Given the description of an element on the screen output the (x, y) to click on. 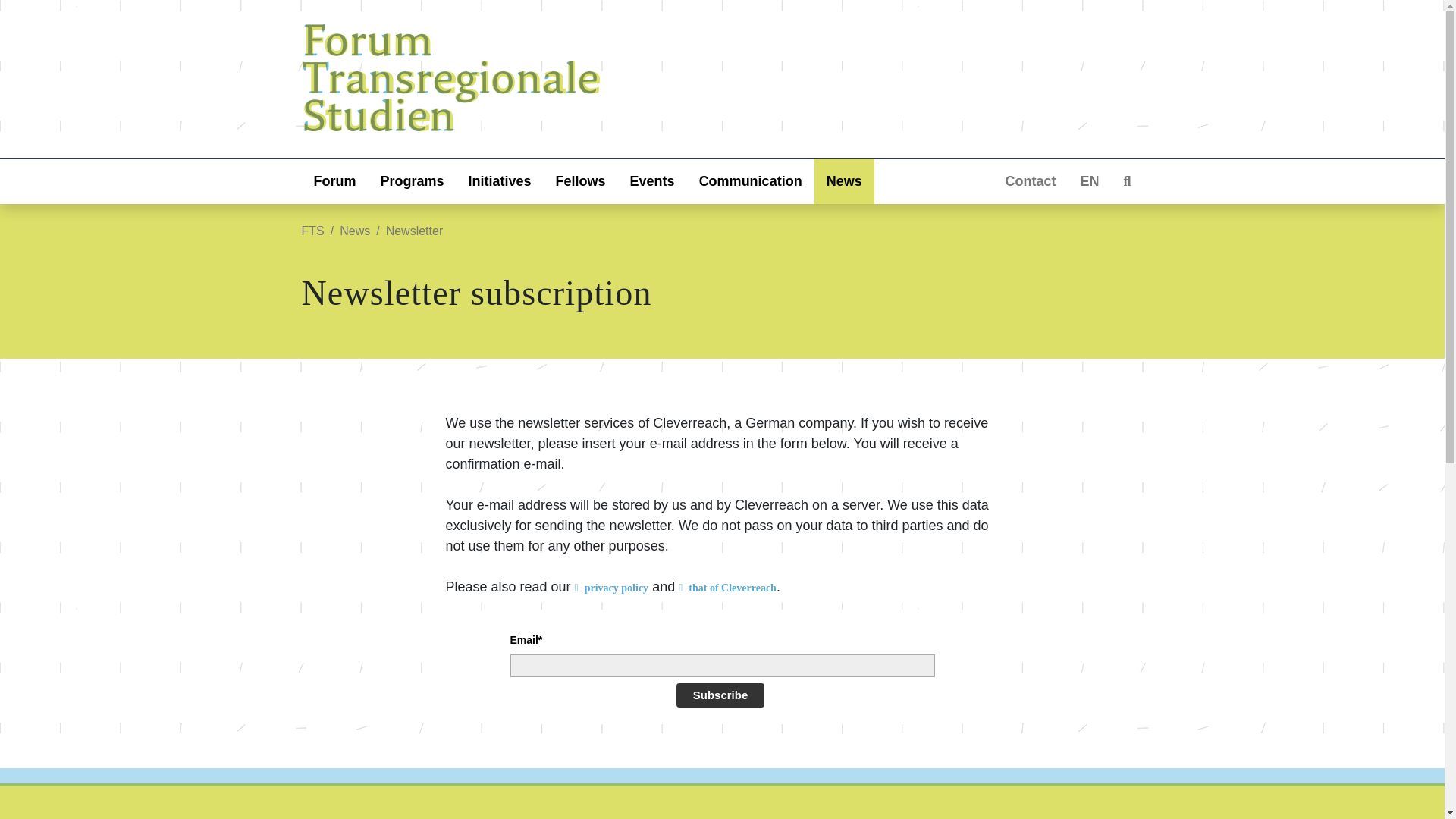
Programs (412, 180)
Events (652, 180)
Communication (750, 180)
Fellows (580, 180)
Forum (334, 180)
Initiatives (500, 180)
